Given the description of an element on the screen output the (x, y) to click on. 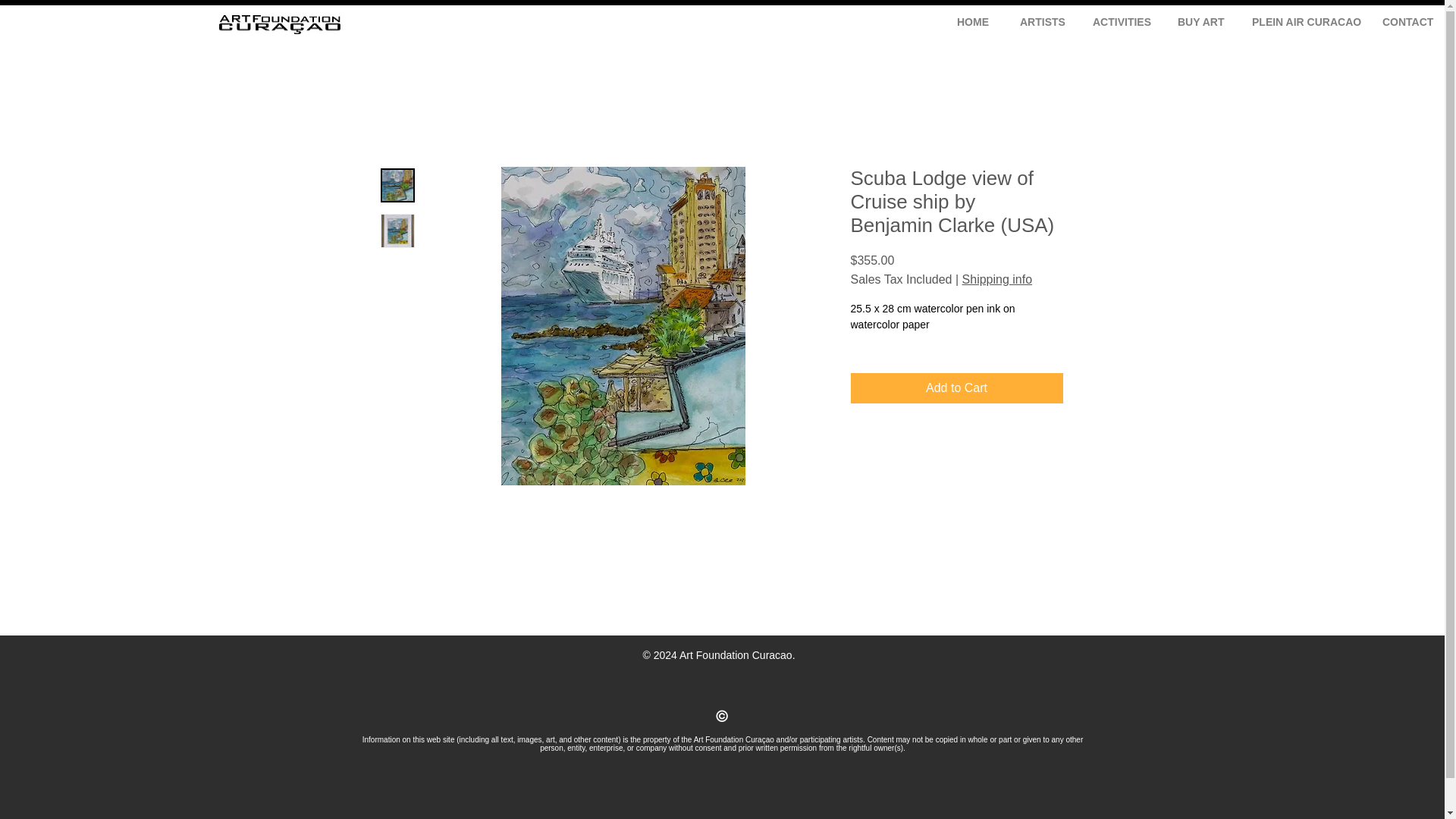
PLEIN AIR CURACAO (1299, 20)
ACTIVITIES (1117, 20)
Home page (278, 24)
BUY ART (1197, 20)
ARTISTS (1039, 20)
Add to Cart (956, 388)
Shipping info (997, 278)
HOME (971, 20)
